Given the description of an element on the screen output the (x, y) to click on. 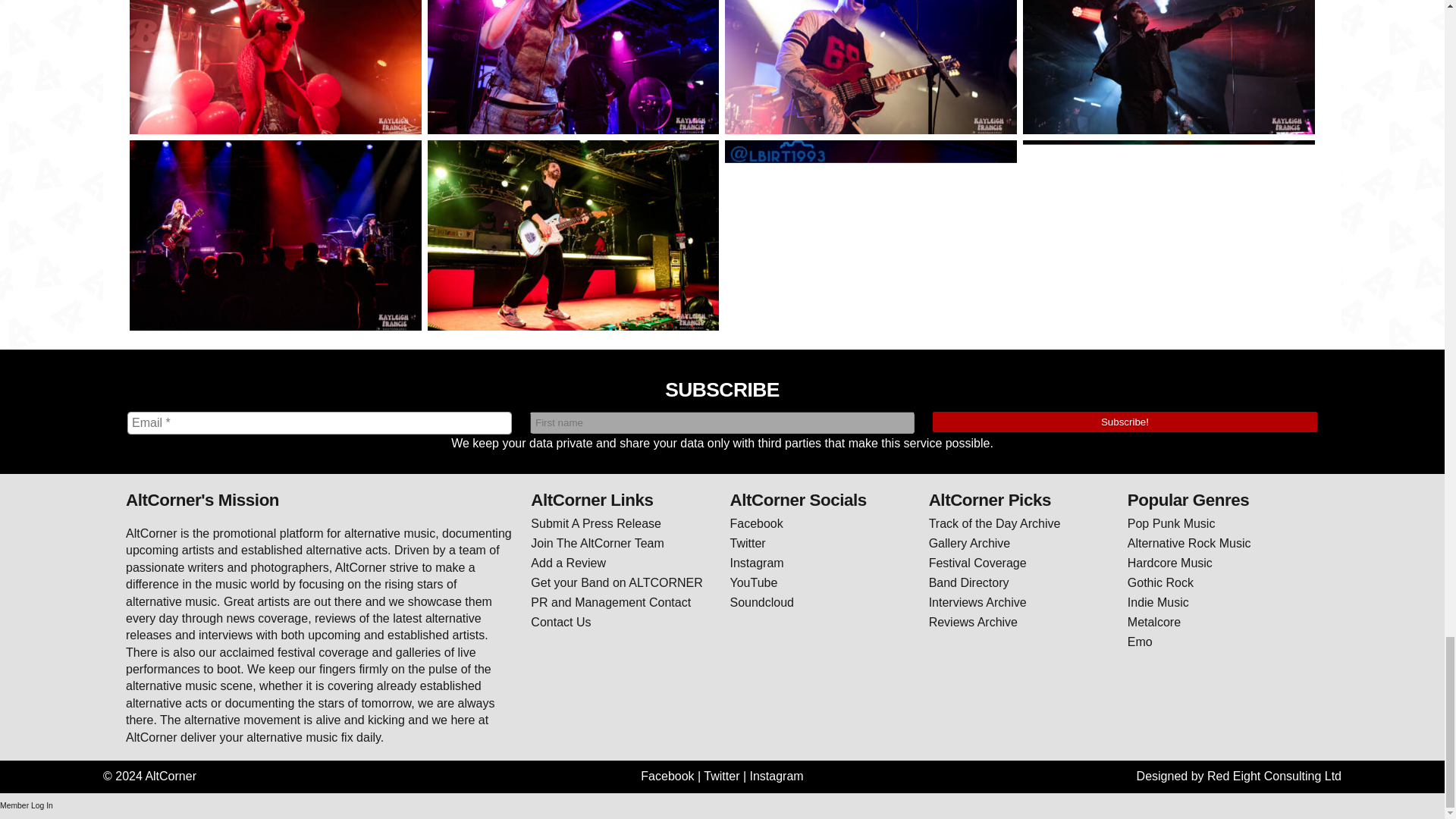
First name (721, 422)
Subscribe! (1125, 421)
Email (320, 422)
